Given the description of an element on the screen output the (x, y) to click on. 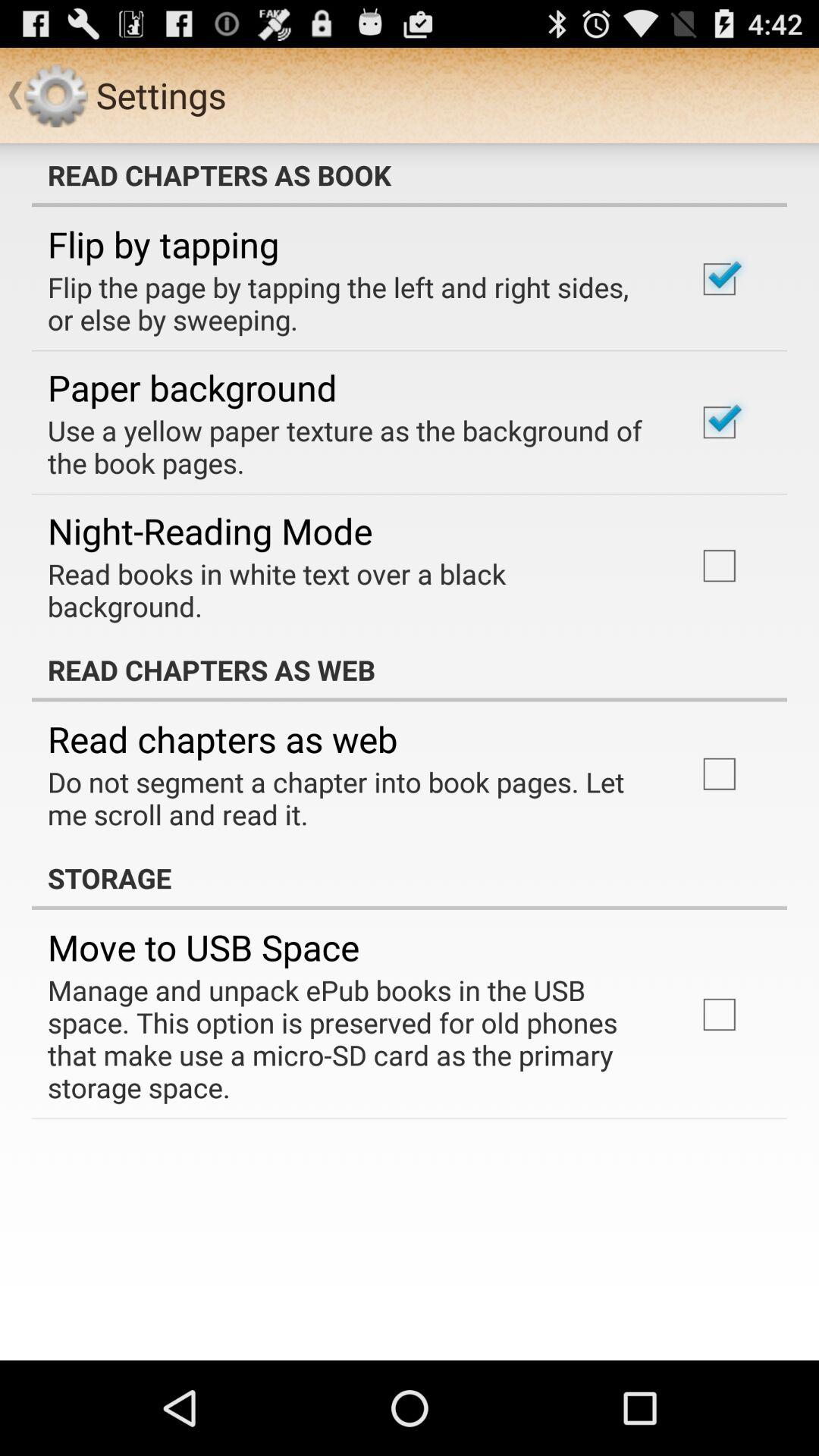
launch the icon above the manage and unpack (203, 947)
